Given the description of an element on the screen output the (x, y) to click on. 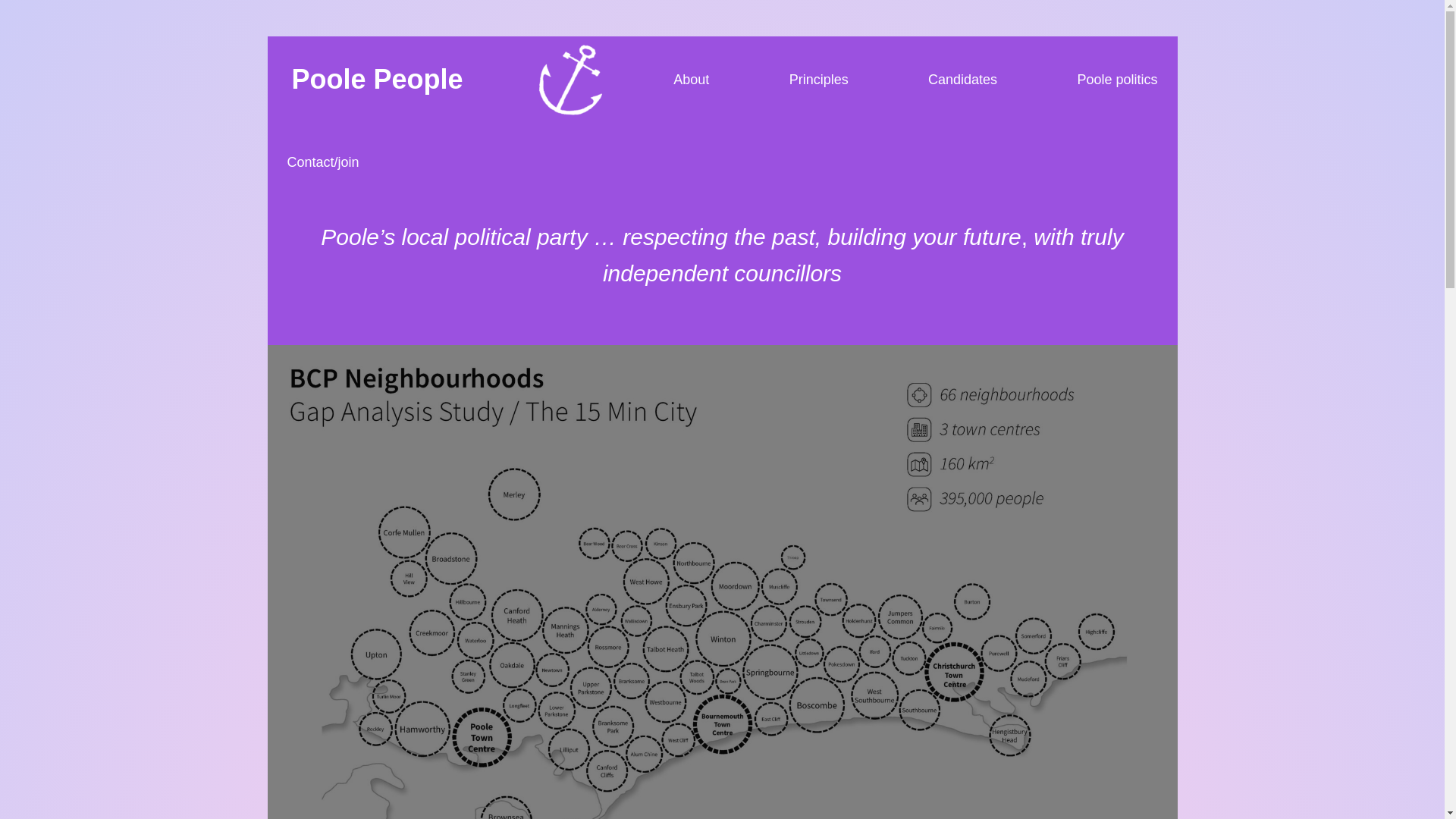
Principles (818, 79)
Poole politics (1116, 79)
Candidates (962, 79)
Poole People (377, 79)
About (691, 79)
